Given the description of an element on the screen output the (x, y) to click on. 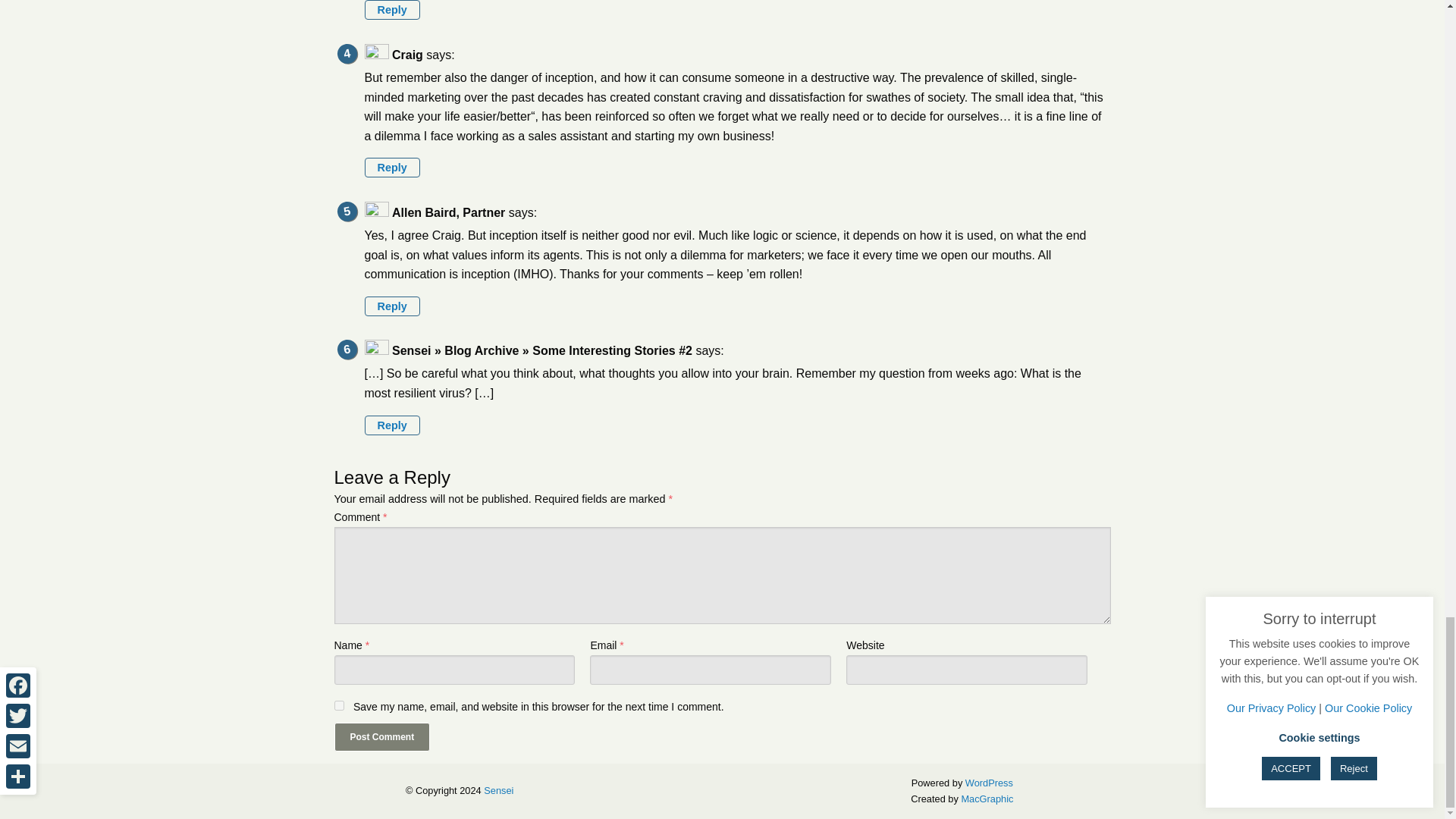
Post Comment (381, 736)
yes (338, 705)
